Given the description of an element on the screen output the (x, y) to click on. 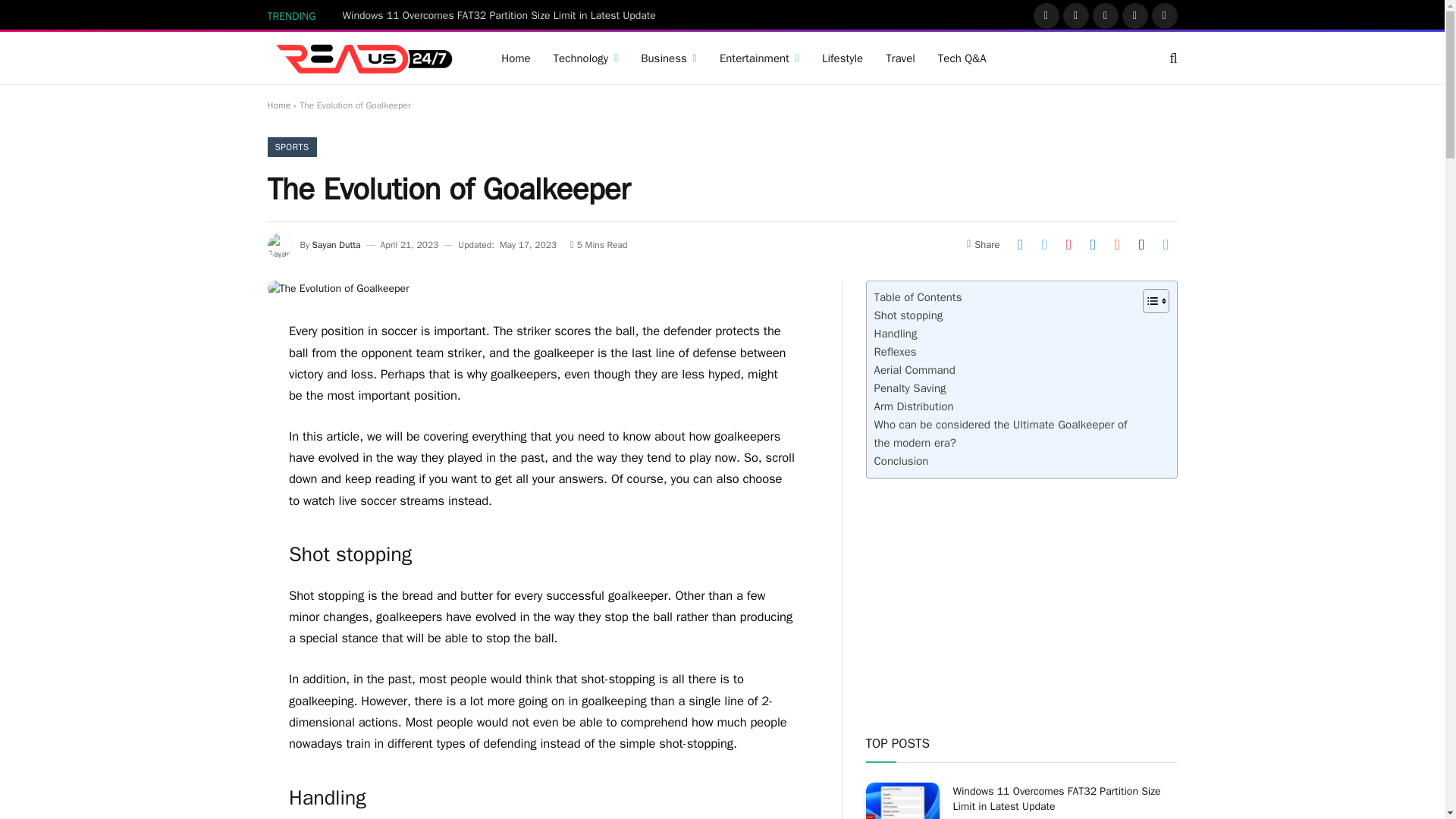
Business (667, 57)
LinkedIn (1164, 15)
Home (515, 57)
Facebook (1046, 15)
Technology (585, 57)
Pinterest (1135, 15)
Instagram (1105, 15)
